Given the description of an element on the screen output the (x, y) to click on. 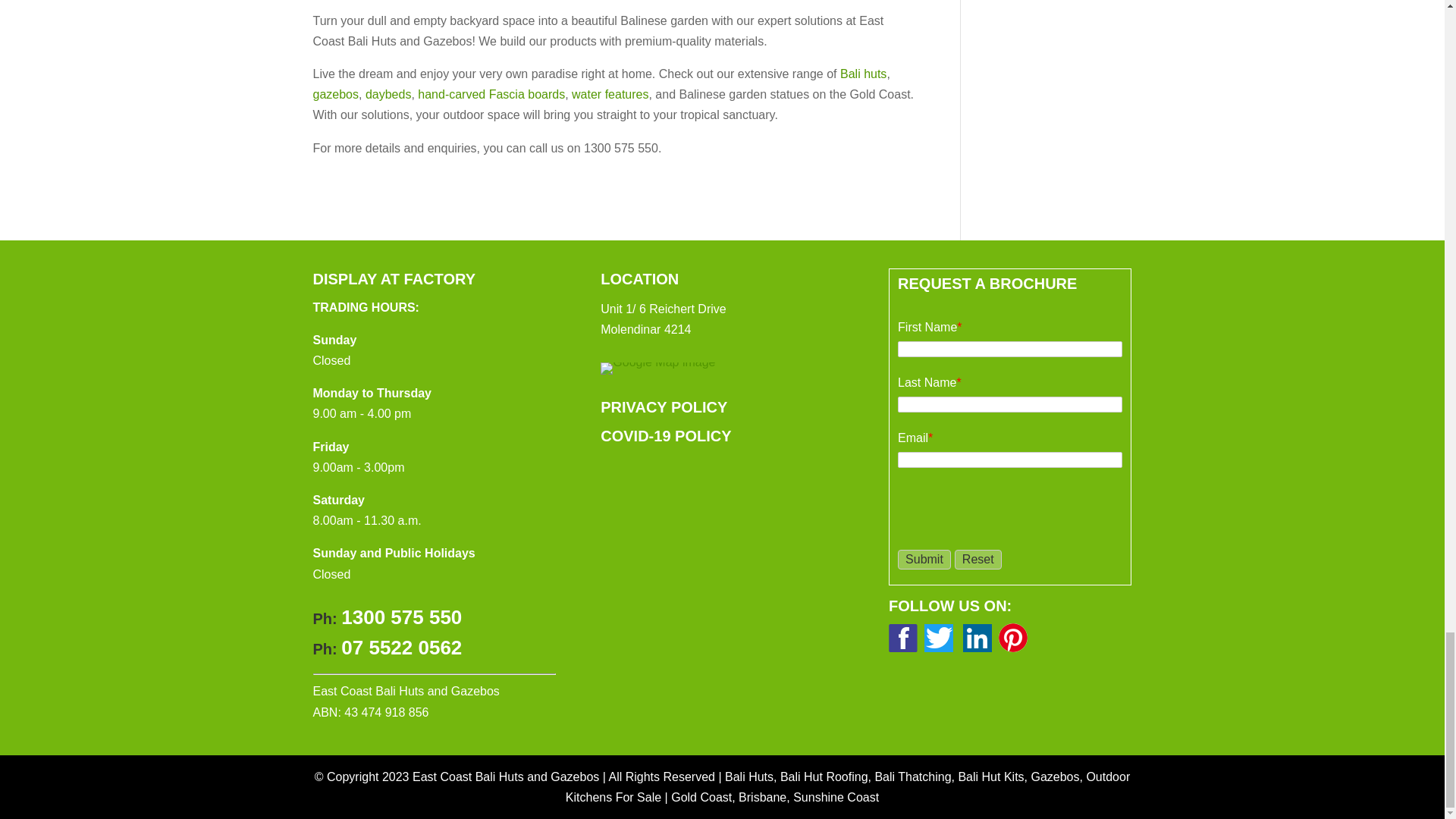
Twitter (938, 637)
Reset (978, 559)
Reset (978, 559)
Submit (924, 559)
Google Map image (656, 368)
Submit (924, 559)
Pinterest (1012, 637)
Facebook Profile (902, 637)
Linkedin (976, 637)
